Given the description of an element on the screen output the (x, y) to click on. 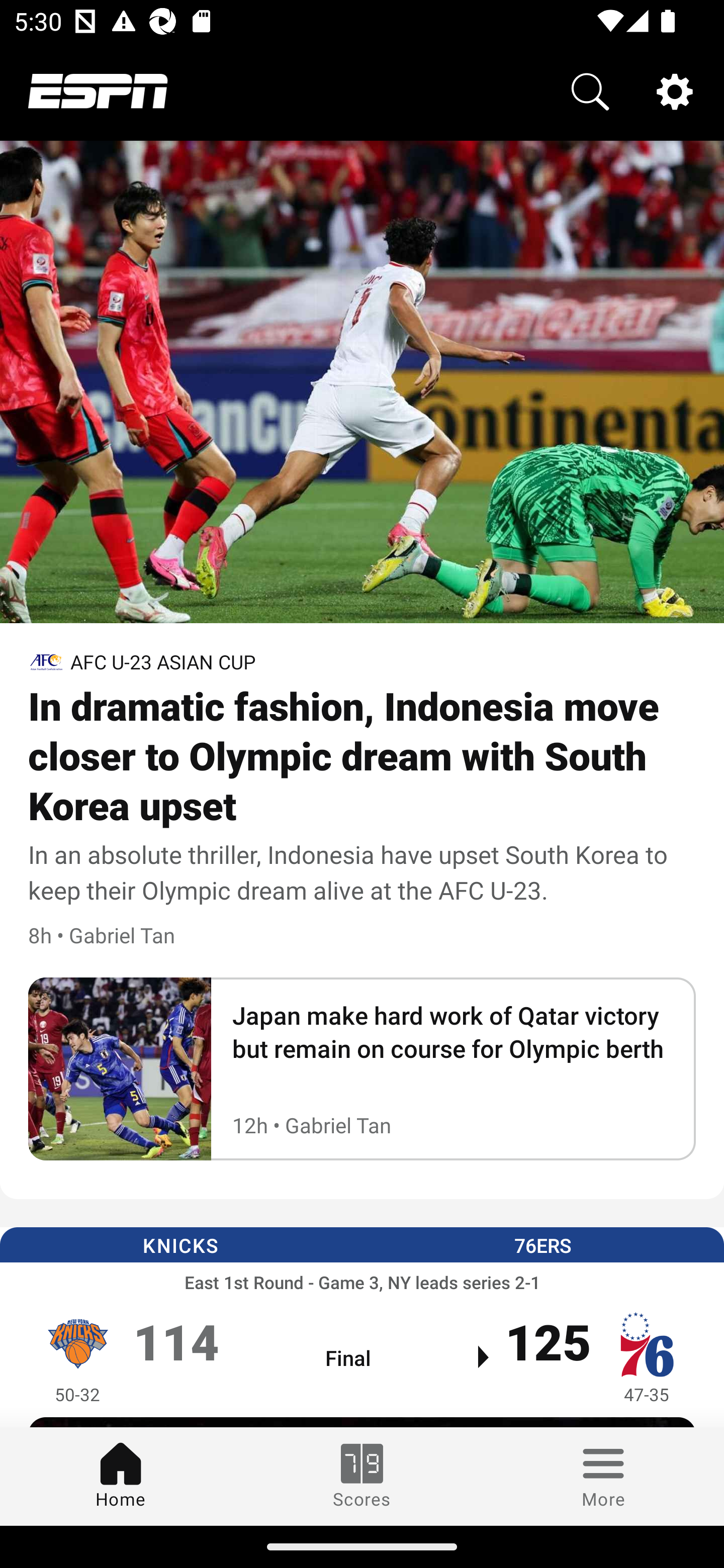
Search (590, 90)
Settings (674, 90)
Scores (361, 1475)
More (603, 1475)
